Given the description of an element on the screen output the (x, y) to click on. 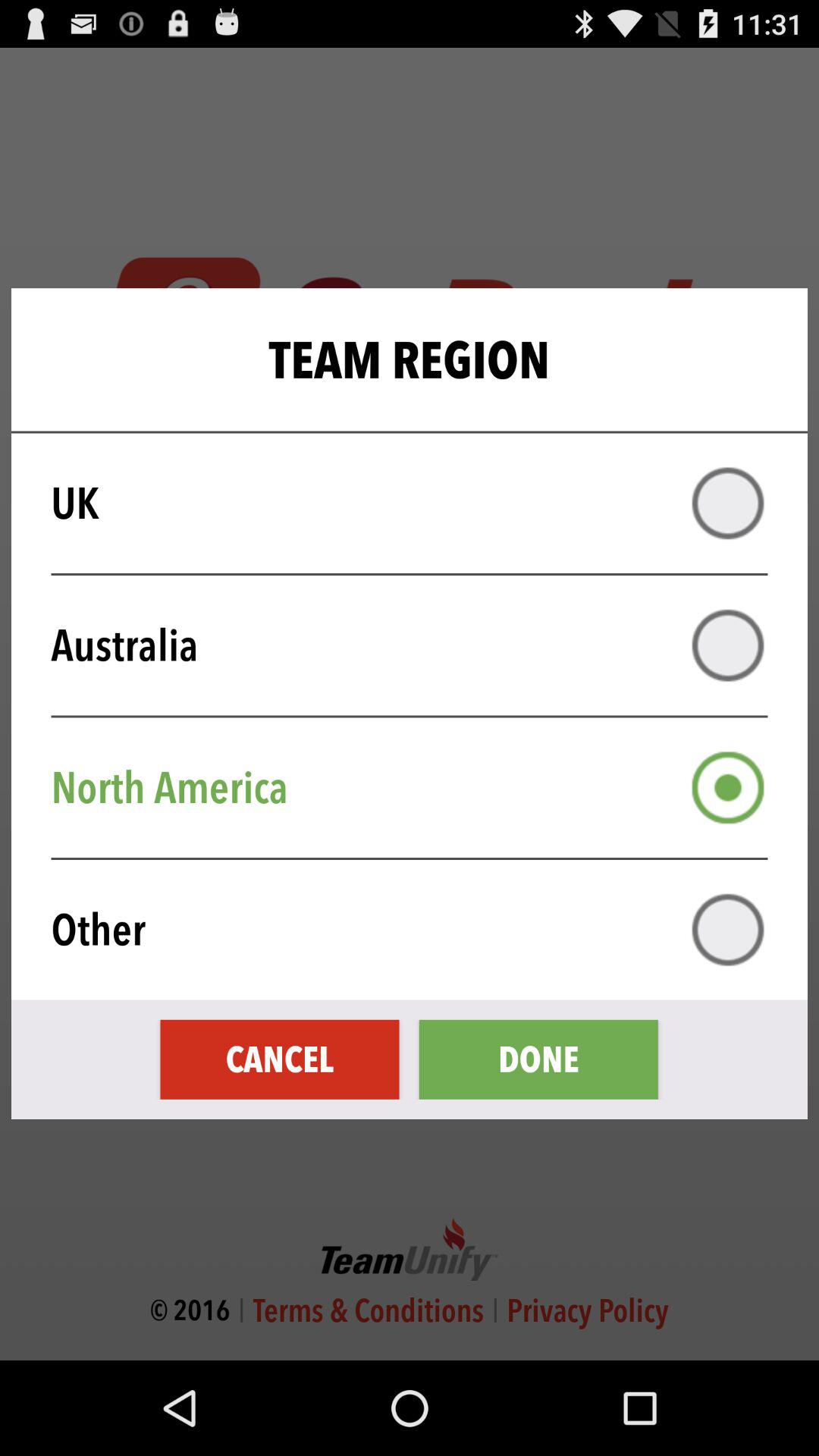
swipe until uk item (419, 503)
